Given the description of an element on the screen output the (x, y) to click on. 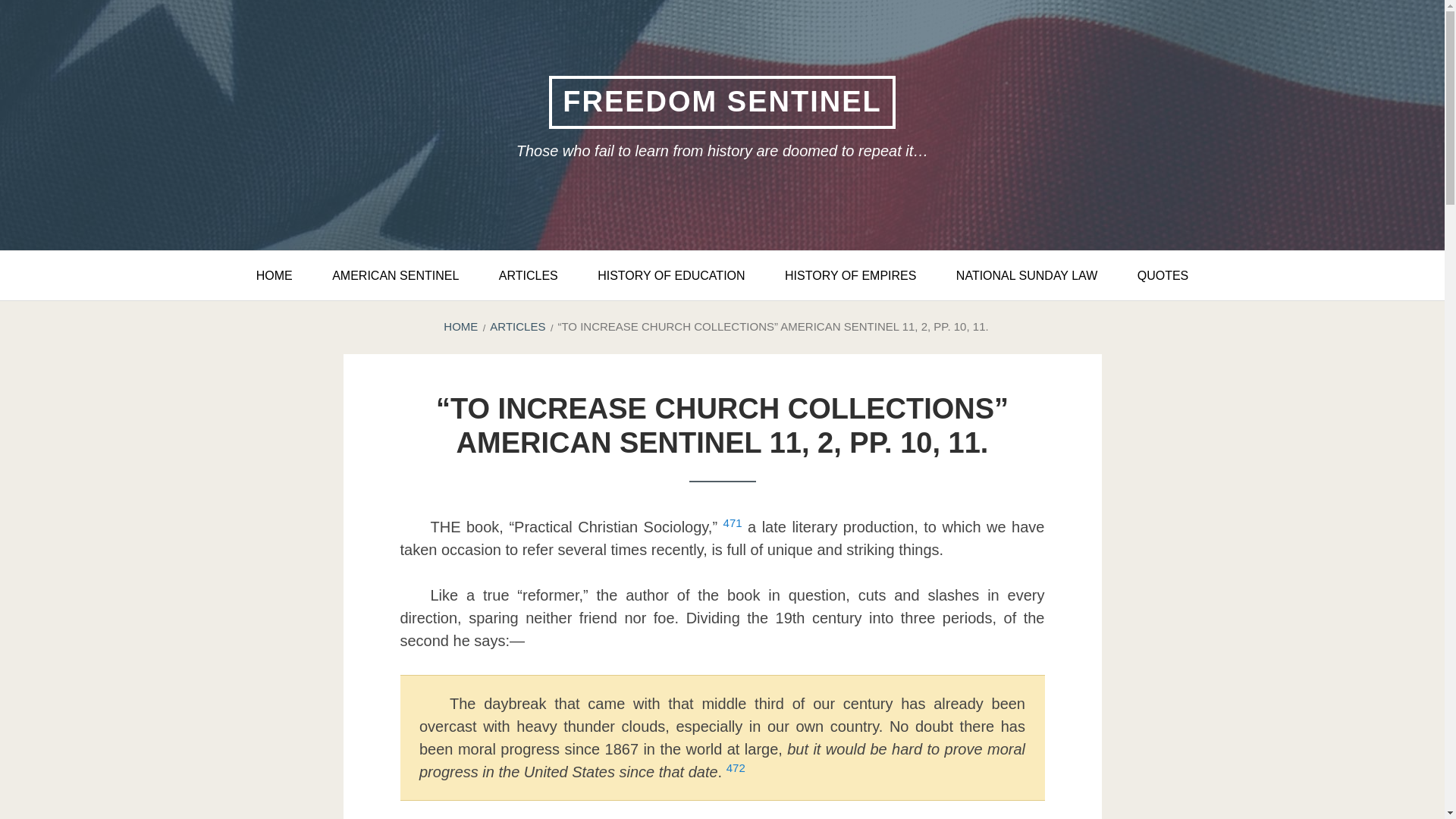
FREEDOM SENTINEL (721, 102)
HISTORY OF EMPIRES (850, 275)
472 (735, 771)
ARTICLES (516, 326)
HISTORY OF EDUCATION (670, 275)
NATIONAL SUNDAY LAW (1026, 275)
ARTICLES (528, 275)
HOME (460, 326)
HOME (274, 275)
QUOTES (1163, 275)
